Given the description of an element on the screen output the (x, y) to click on. 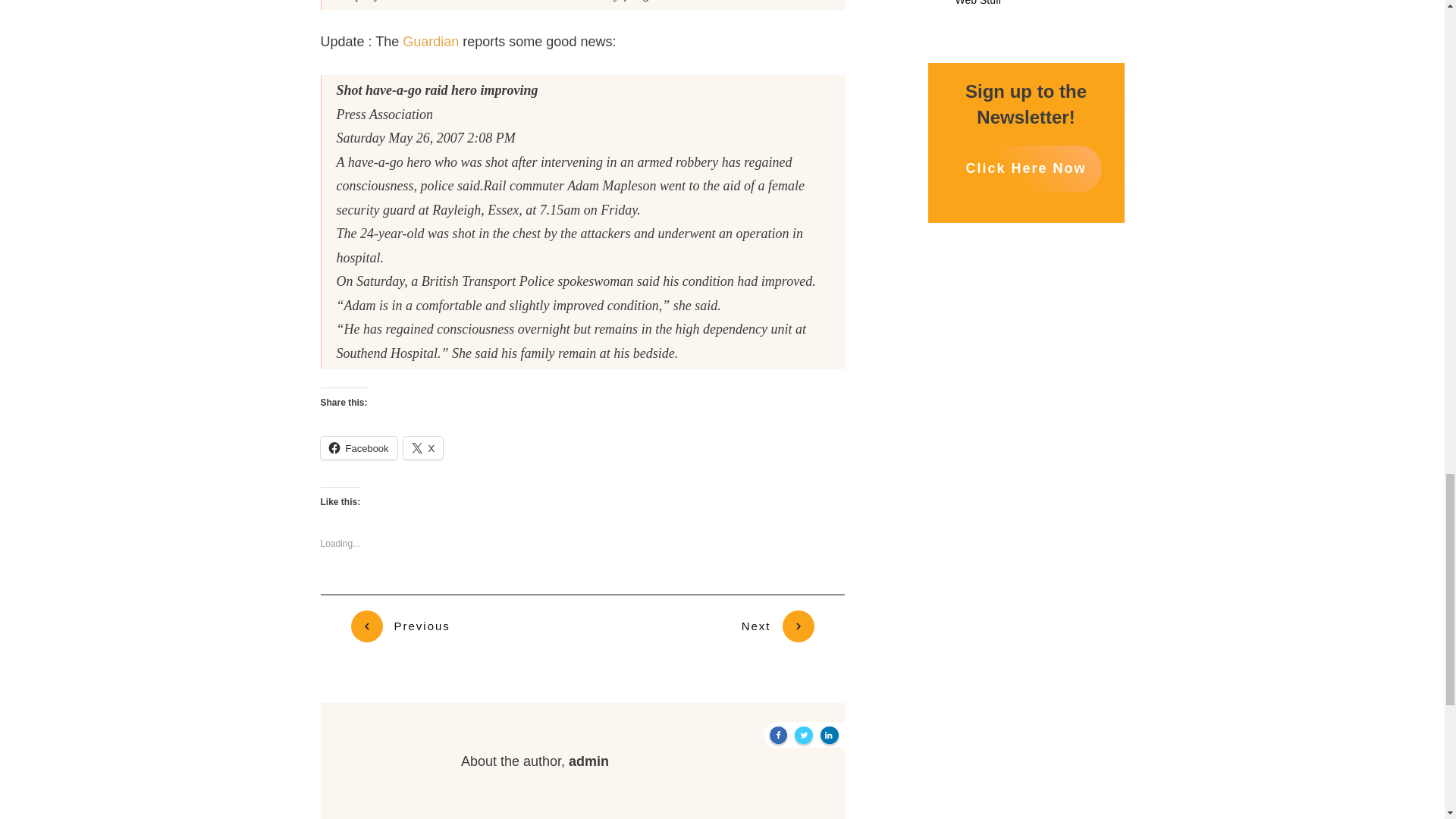
Click to share on Facebook (358, 447)
Click to share on X (423, 447)
Facebook (358, 447)
X (423, 447)
Previous (399, 626)
Guardian (433, 41)
Next (777, 626)
